Given the description of an element on the screen output the (x, y) to click on. 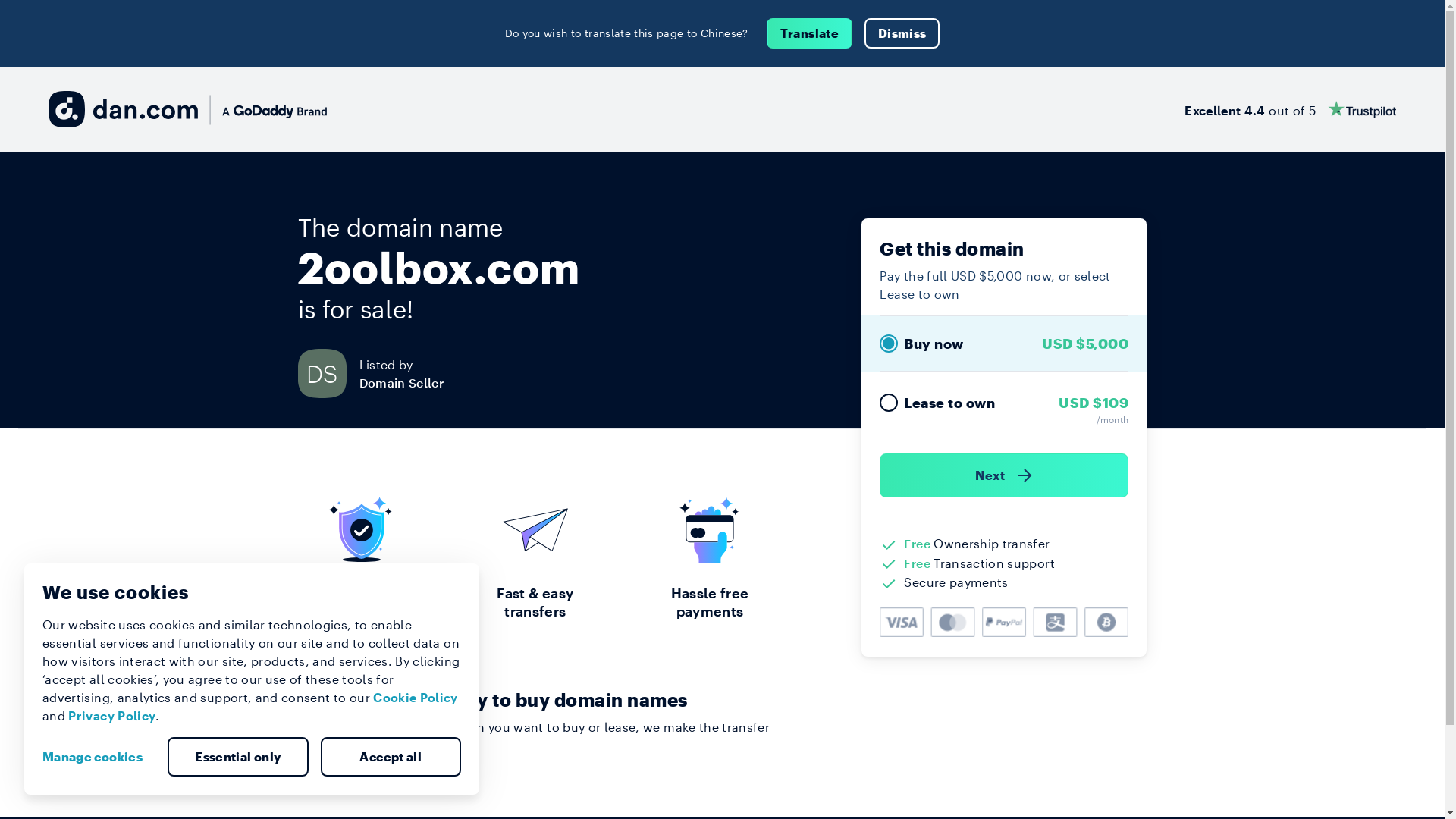
Dismiss Element type: text (901, 33)
Accept all Element type: text (390, 756)
Translate Element type: text (809, 33)
Essential only Element type: text (237, 756)
Privacy Policy Element type: text (111, 715)
Manage cookies Element type: text (98, 756)
Excellent 4.4 out of 5 Element type: text (1290, 109)
Next
) Element type: text (1003, 475)
Cookie Policy Element type: text (415, 697)
